Given the description of an element on the screen output the (x, y) to click on. 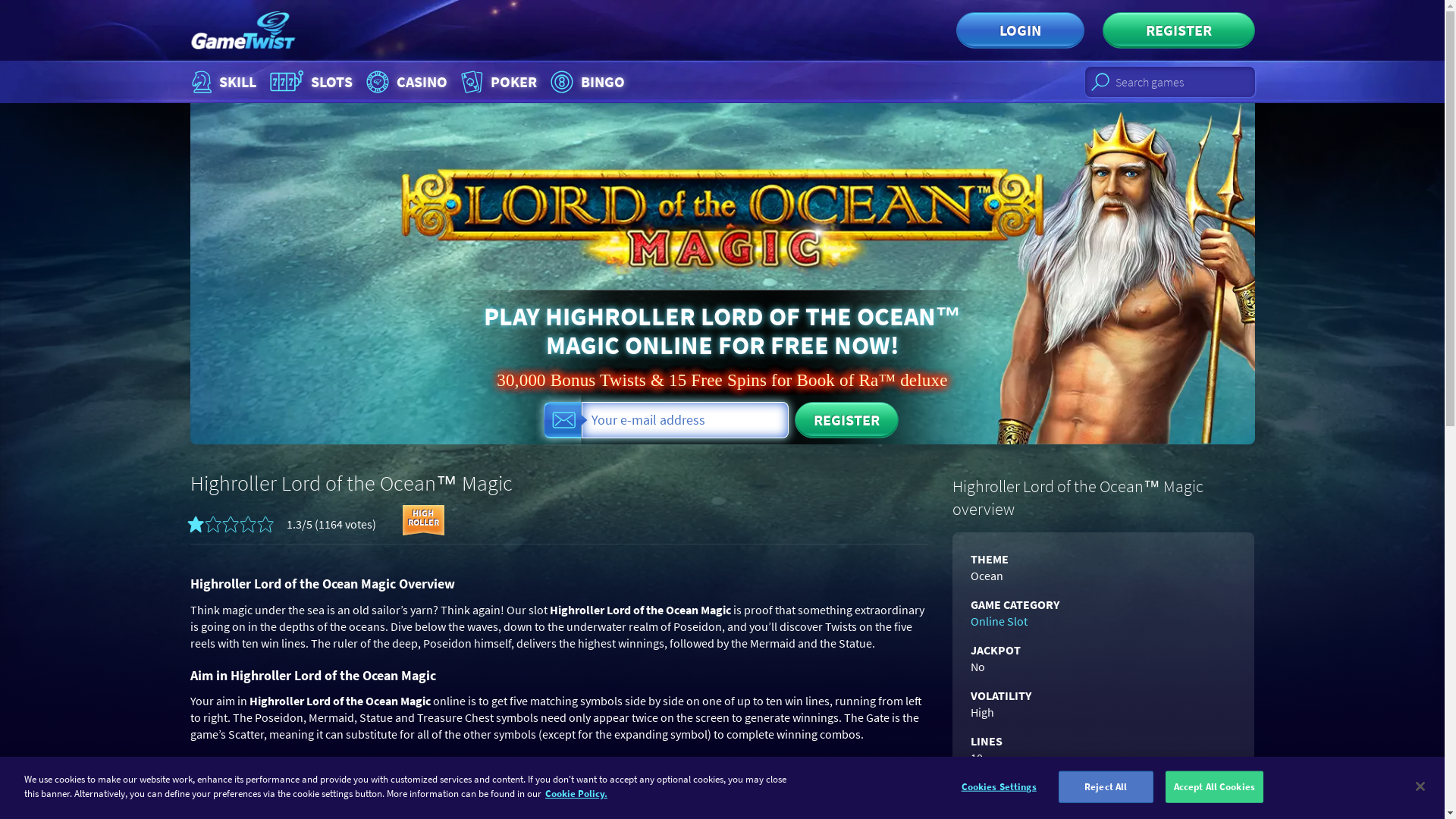
SKILL (222, 81)
GameTwist Online Casino (242, 30)
REGISTER (846, 420)
POKER (497, 81)
BINGO (586, 81)
SLOTS (633, 81)
REGISTER (310, 81)
Online Slot (1178, 30)
CASINO (995, 620)
LOGIN (405, 81)
Cookie Policy. (1019, 30)
